Given the description of an element on the screen output the (x, y) to click on. 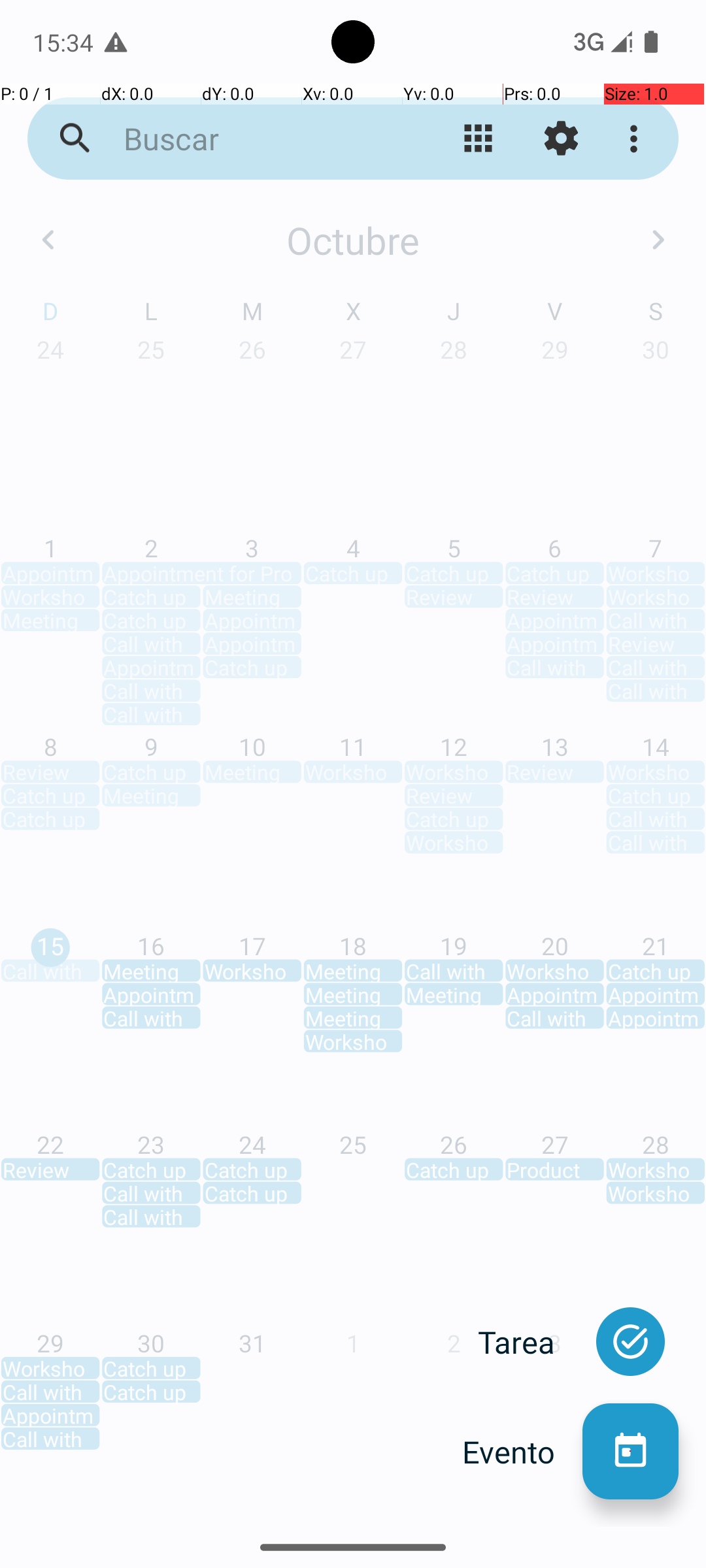
Tarea Element type: android.widget.TextView (529, 1341)
Evento Element type: android.widget.TextView (522, 1451)
